Given the description of an element on the screen output the (x, y) to click on. 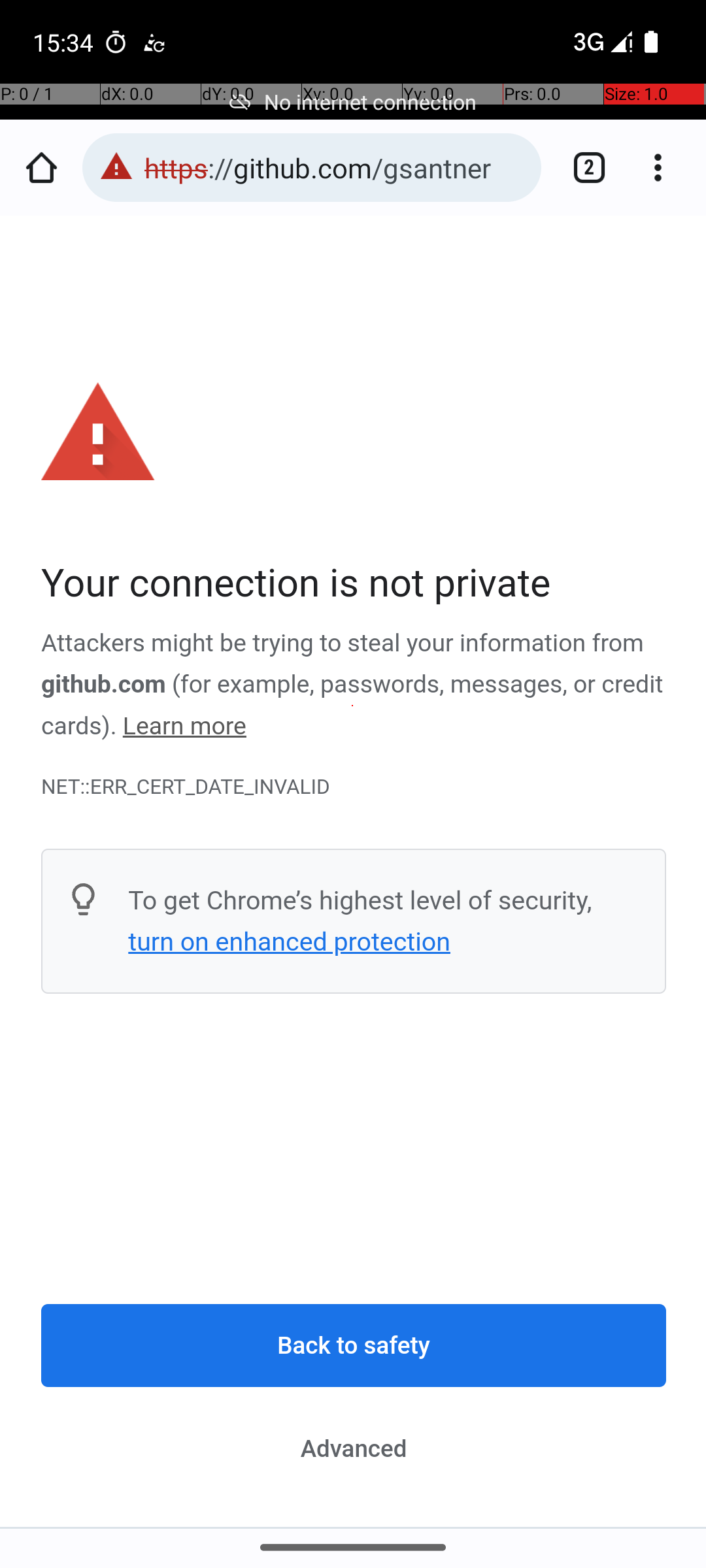
https://github.com/gsantner Element type: android.widget.EditText (335, 167)
